Given the description of an element on the screen output the (x, y) to click on. 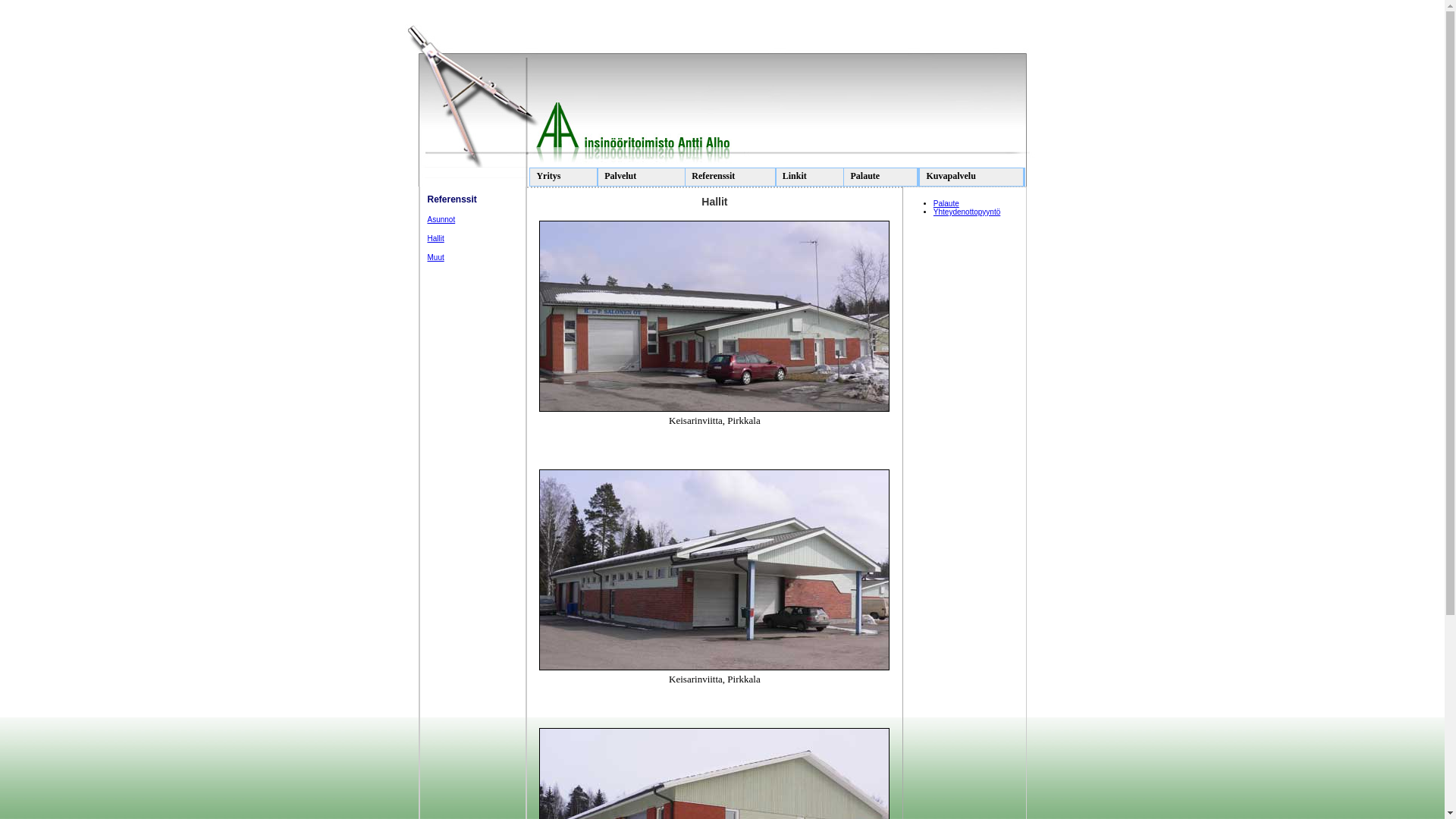
Palaute Element type: text (946, 203)
Kuvapalvelu Element type: text (972, 176)
Hallit Element type: text (435, 238)
Muut Element type: text (435, 257)
Yritys Element type: text (563, 176)
Referenssit Element type: text (729, 176)
Palvelut Element type: text (642, 176)
Asunnot Element type: text (441, 219)
Linkit Element type: text (809, 176)
Palaute Element type: text (881, 176)
